Given the description of an element on the screen output the (x, y) to click on. 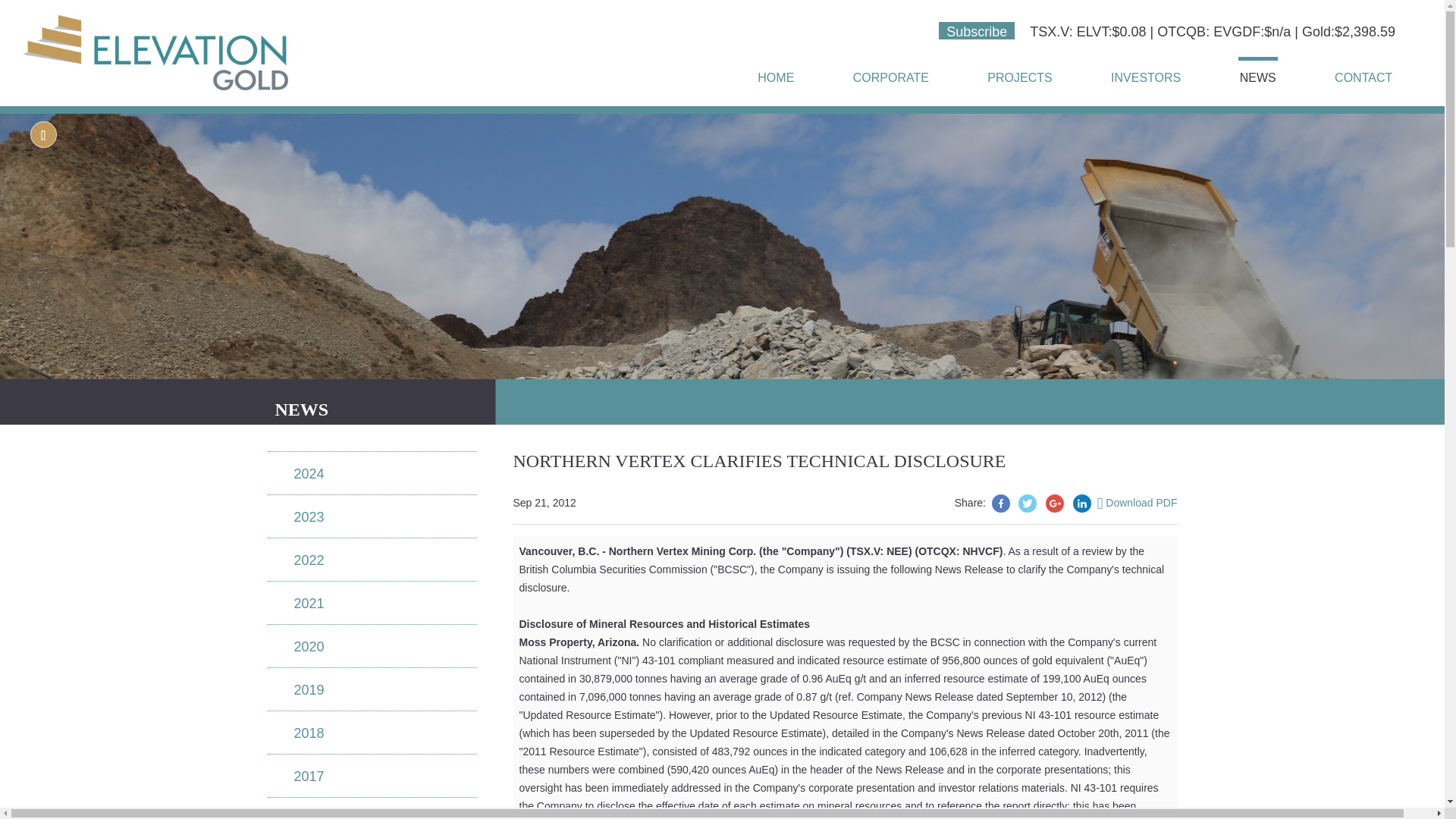
Subscribe (976, 30)
CONTACT (1363, 74)
Share on Google Plus (1054, 503)
Share on LinkedIn (1081, 503)
NEWS (1258, 72)
PROJECTS (1018, 74)
Share on Twitter (1026, 503)
HOME (774, 74)
CORPORATE (890, 74)
INVESTORS (1145, 74)
